Given the description of an element on the screen output the (x, y) to click on. 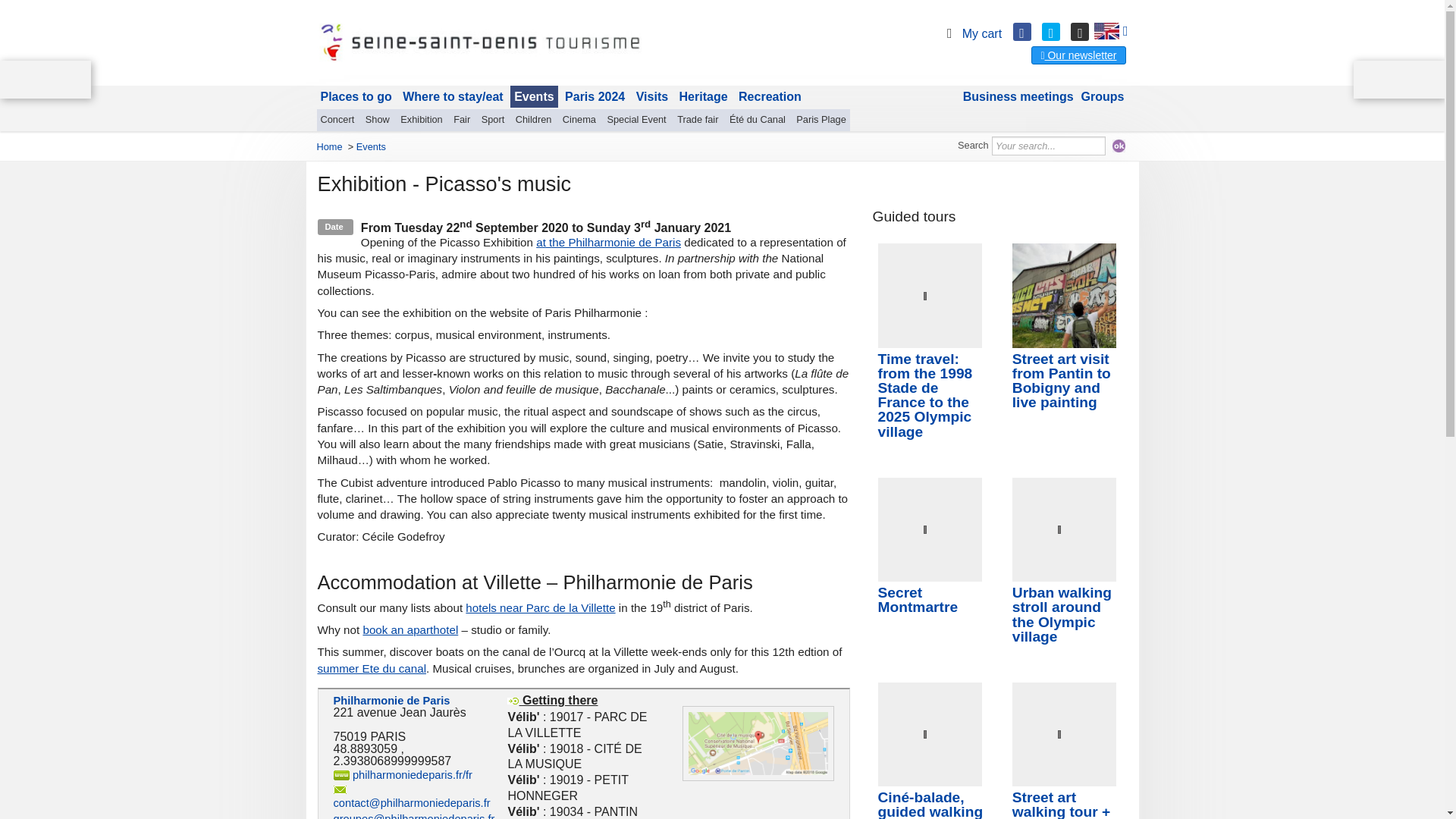
Places to go (356, 96)
Show (377, 119)
Paris 2024 (594, 96)
Paris Plage (820, 119)
 My cart (970, 33)
Trade fair (697, 119)
Cinema (579, 119)
Fair (461, 119)
Our newsletter (1077, 54)
Children (534, 119)
